Given the description of an element on the screen output the (x, y) to click on. 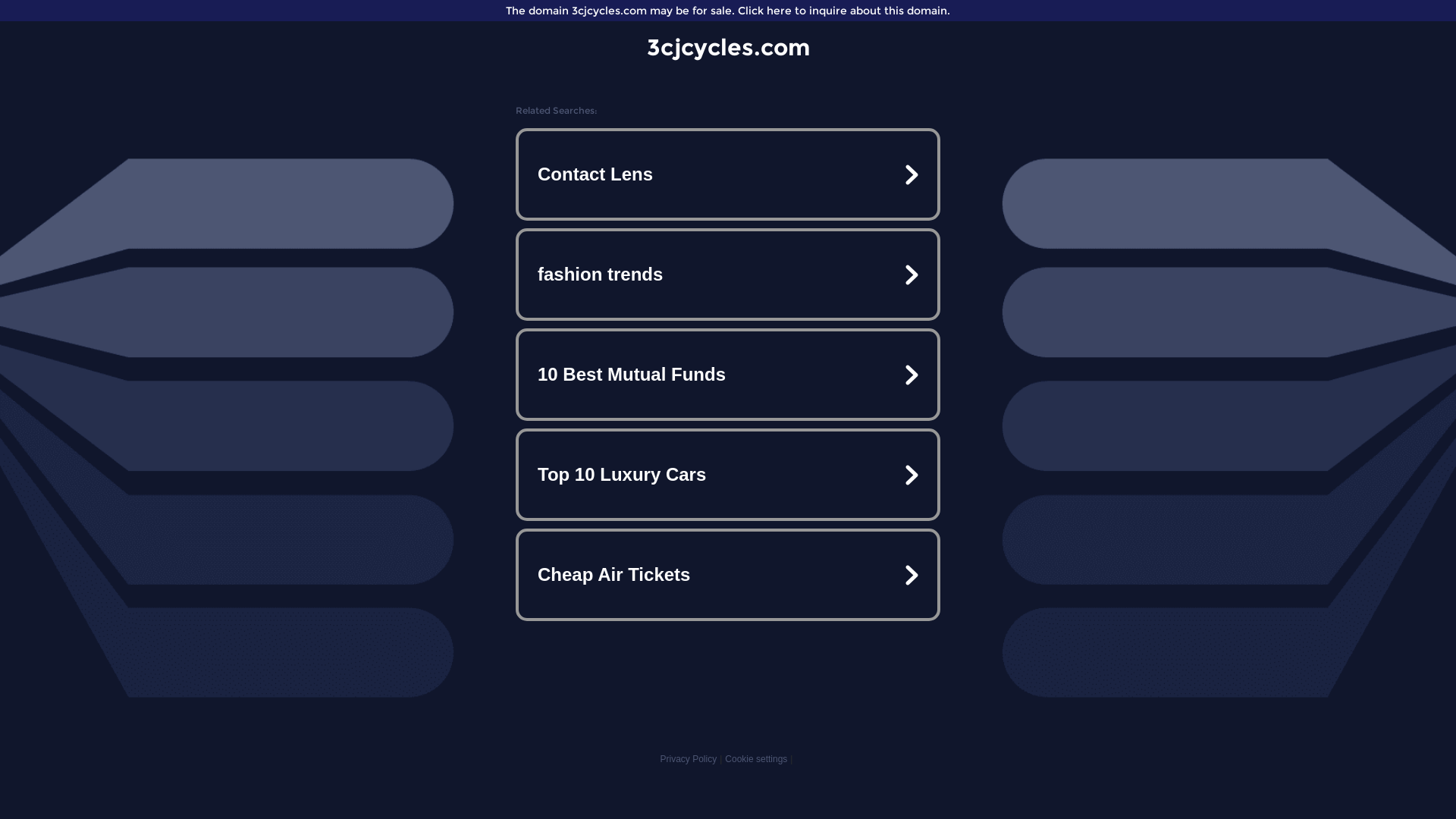
fashion trends Element type: text (727, 274)
Contact Lens Element type: text (727, 174)
Cheap Air Tickets Element type: text (727, 574)
3cjcycles.com Element type: text (727, 47)
10 Best Mutual Funds Element type: text (727, 374)
Privacy Policy Element type: text (687, 758)
Cookie settings Element type: text (755, 758)
Top 10 Luxury Cars Element type: text (727, 474)
